Given the description of an element on the screen output the (x, y) to click on. 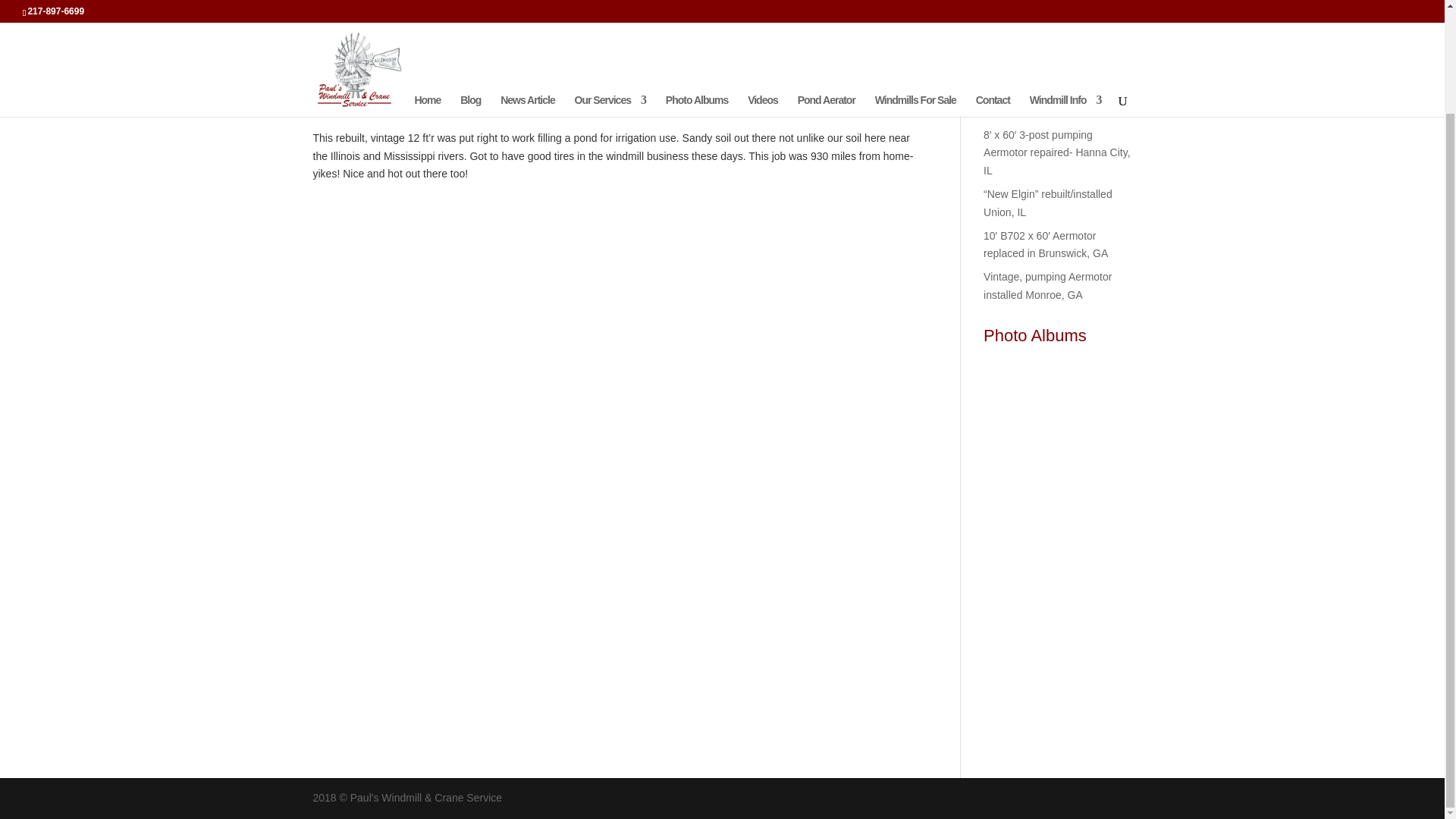
Windmill Service (515, 80)
Vintage, pumping Aermotor installed Monroe, GA (1048, 286)
Paul Behrends (361, 80)
Posts by Paul Behrends (361, 80)
Search (1104, 22)
Search (1104, 22)
